Given the description of an element on the screen output the (x, y) to click on. 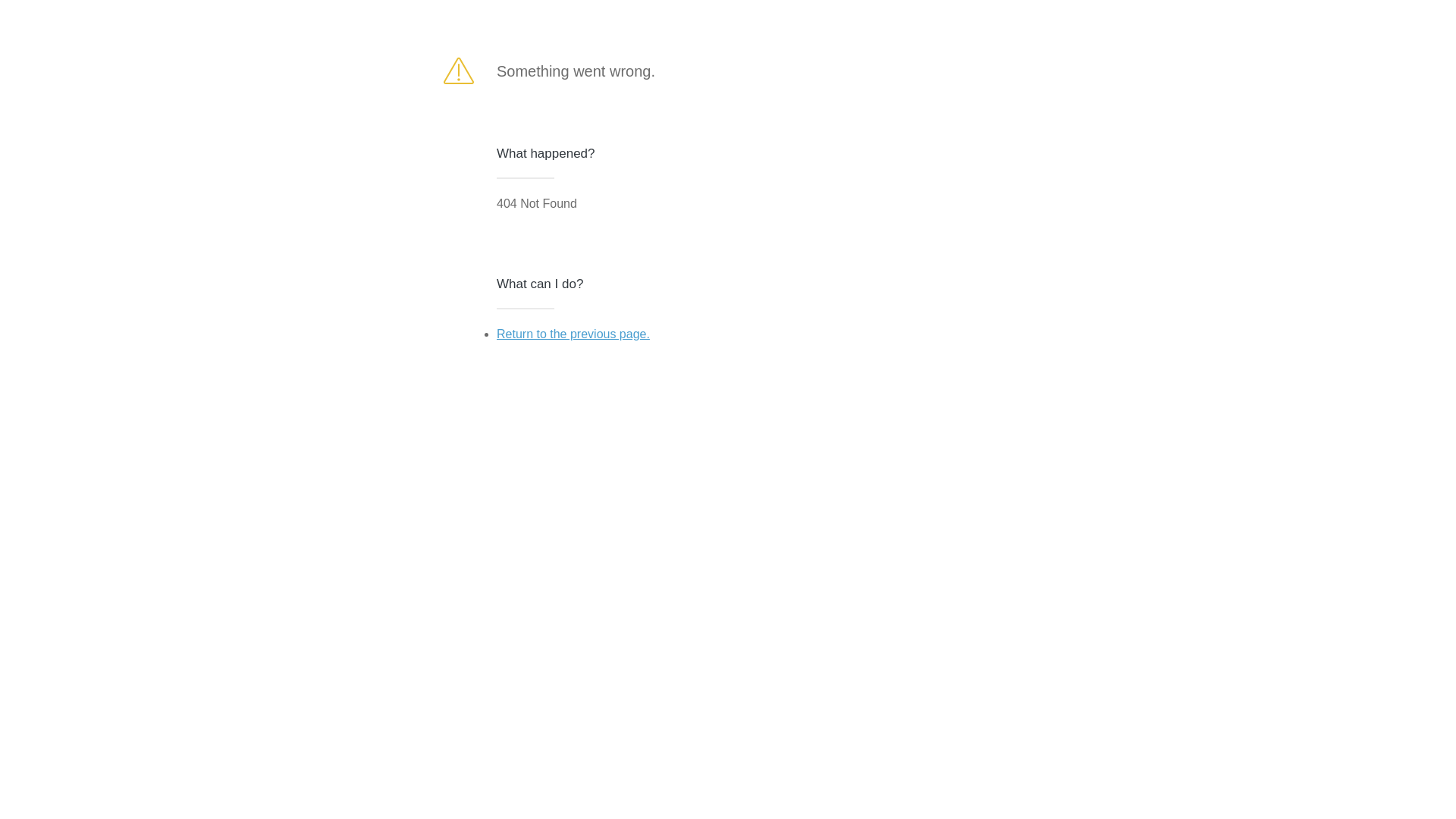
Return to the previous page. Element type: text (572, 333)
